Given the description of an element on the screen output the (x, y) to click on. 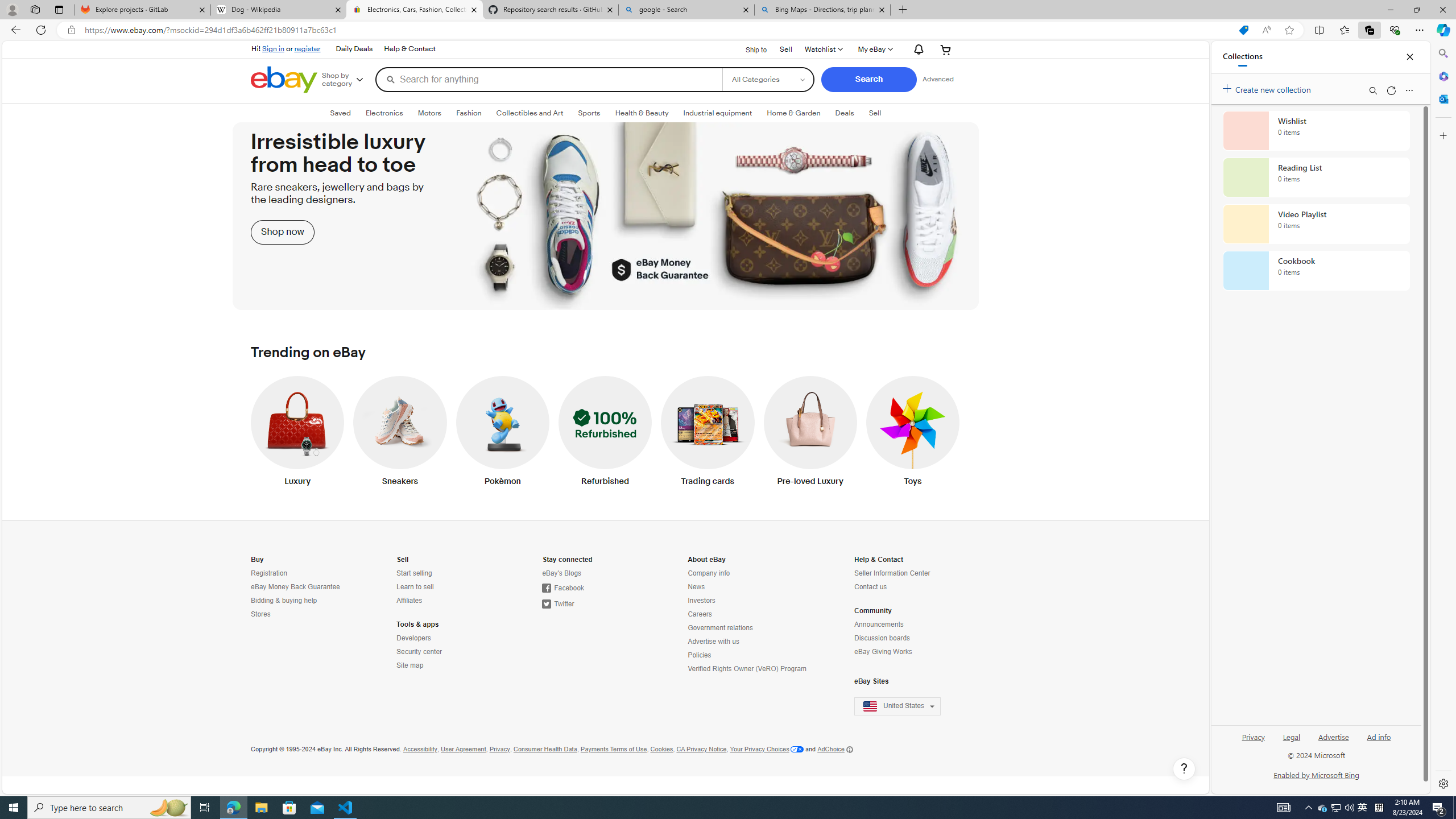
Company info (748, 573)
Trading cards (707, 433)
Refurbished (604, 433)
eBay Giving Works (883, 652)
Investors (700, 600)
eBay Money Back Guarantee (300, 587)
Verified Rights Owner (VeRO) Program (746, 669)
Home & GardenExpand: Home & Garden (793, 112)
Facebook (592, 587)
Daily Deals (353, 49)
ElectronicsExpand: Electronics (384, 112)
Company info (708, 573)
